Given the description of an element on the screen output the (x, y) to click on. 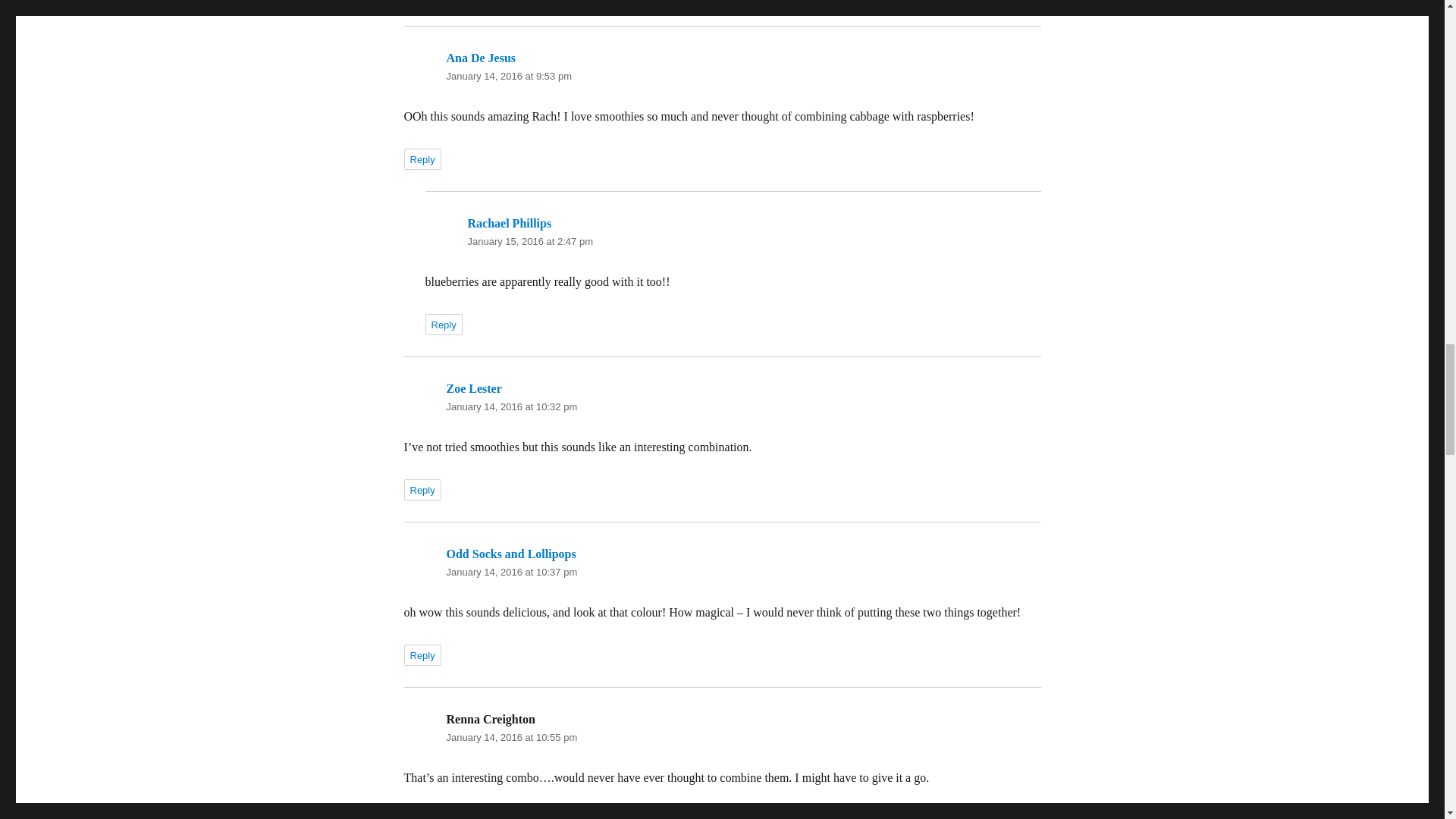
Rachael Phillips (509, 223)
Ana De Jesus (480, 57)
January 14, 2016 at 9:53 pm (508, 75)
January 15, 2016 at 2:47 pm (529, 241)
Reply (422, 158)
